Given the description of an element on the screen output the (x, y) to click on. 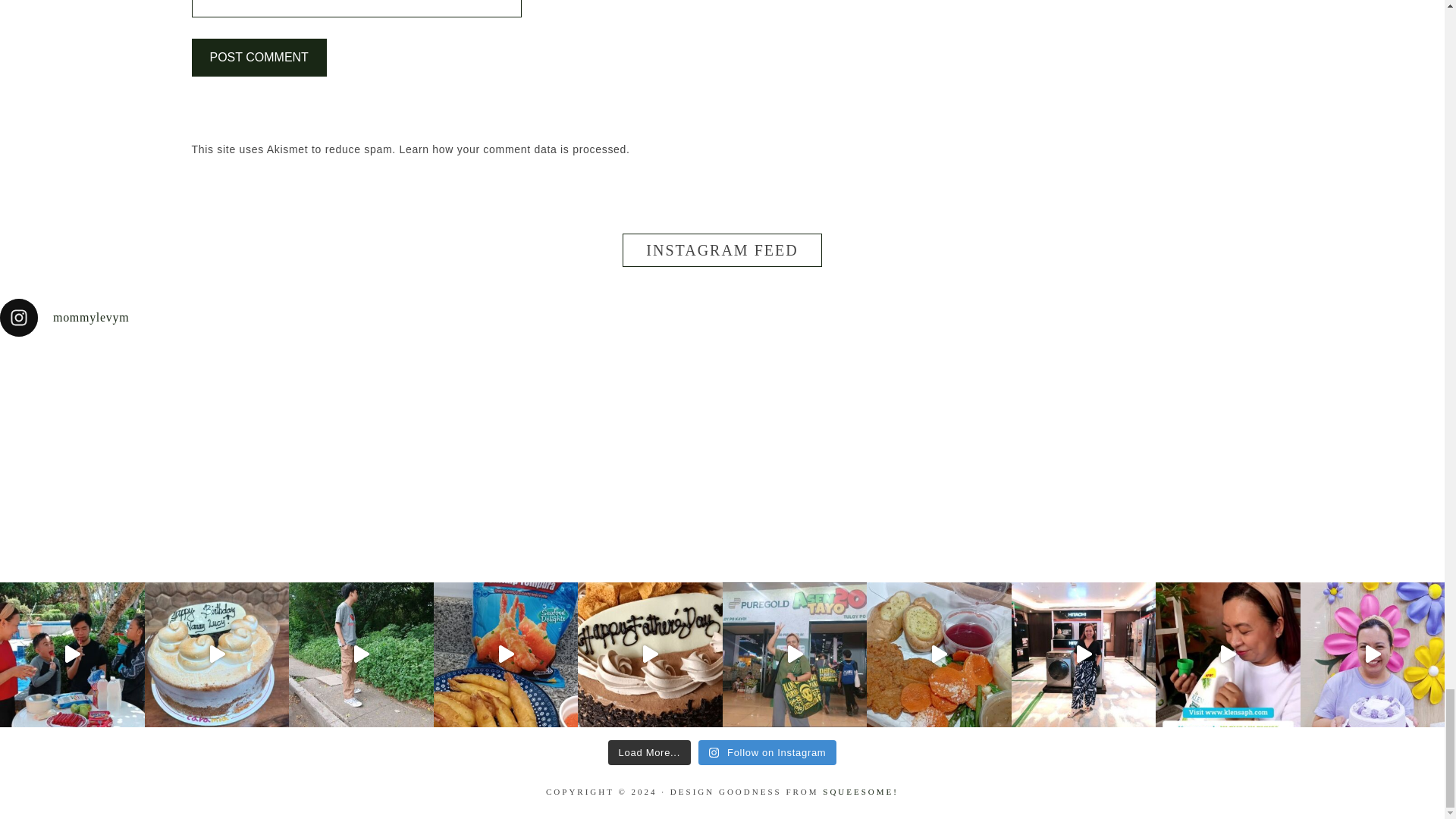
Post Comment (258, 57)
